Given the description of an element on the screen output the (x, y) to click on. 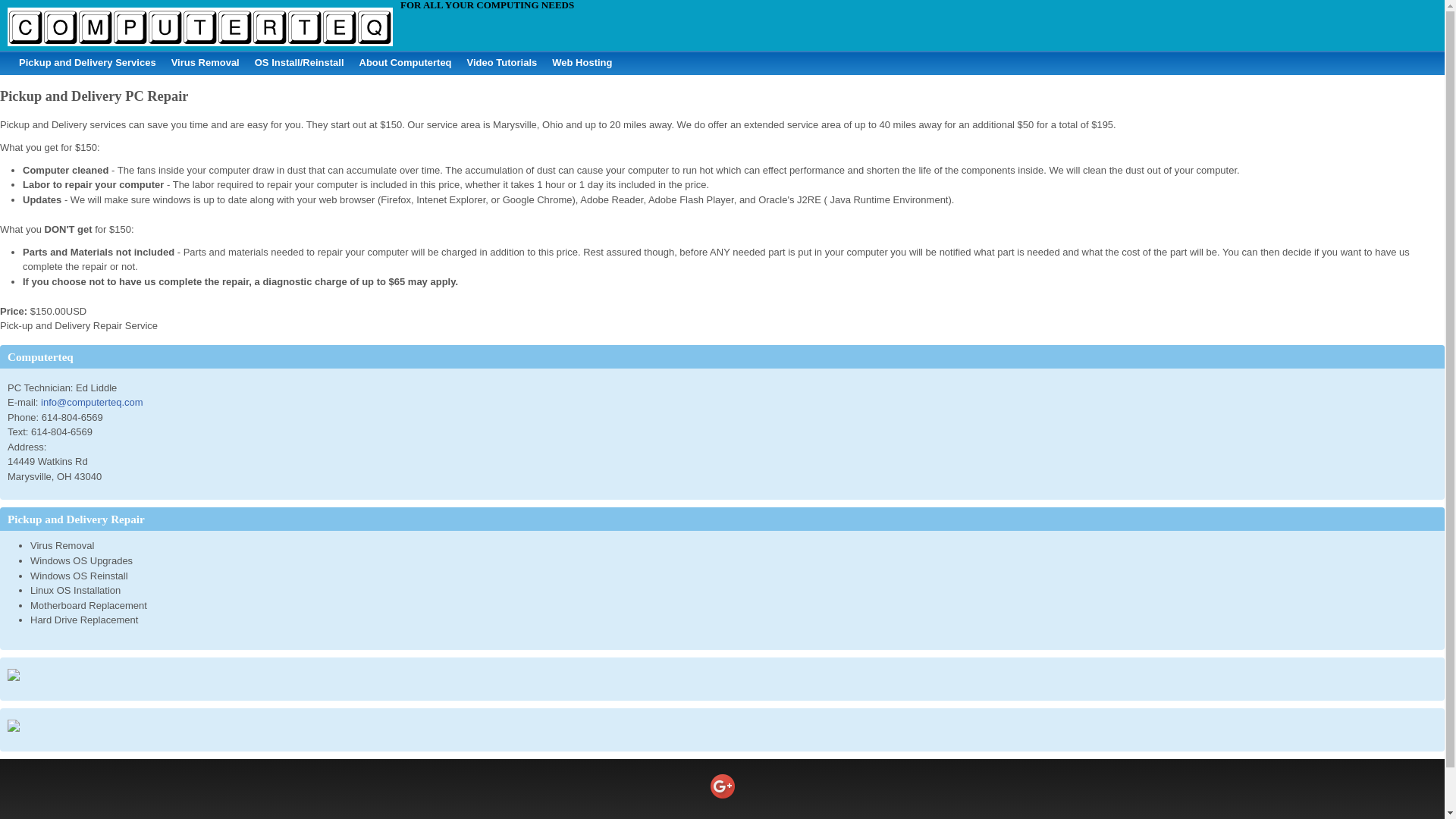
Screen casts to show how to use a computer. (502, 61)
Virus Removal (205, 61)
Video Tutorials (502, 61)
Web Hosting (582, 61)
Pickup and Delivery Services (87, 61)
About Computerteq (406, 61)
Virus Removal (205, 61)
Fast and Convenient (87, 61)
